Given the description of an element on the screen output the (x, y) to click on. 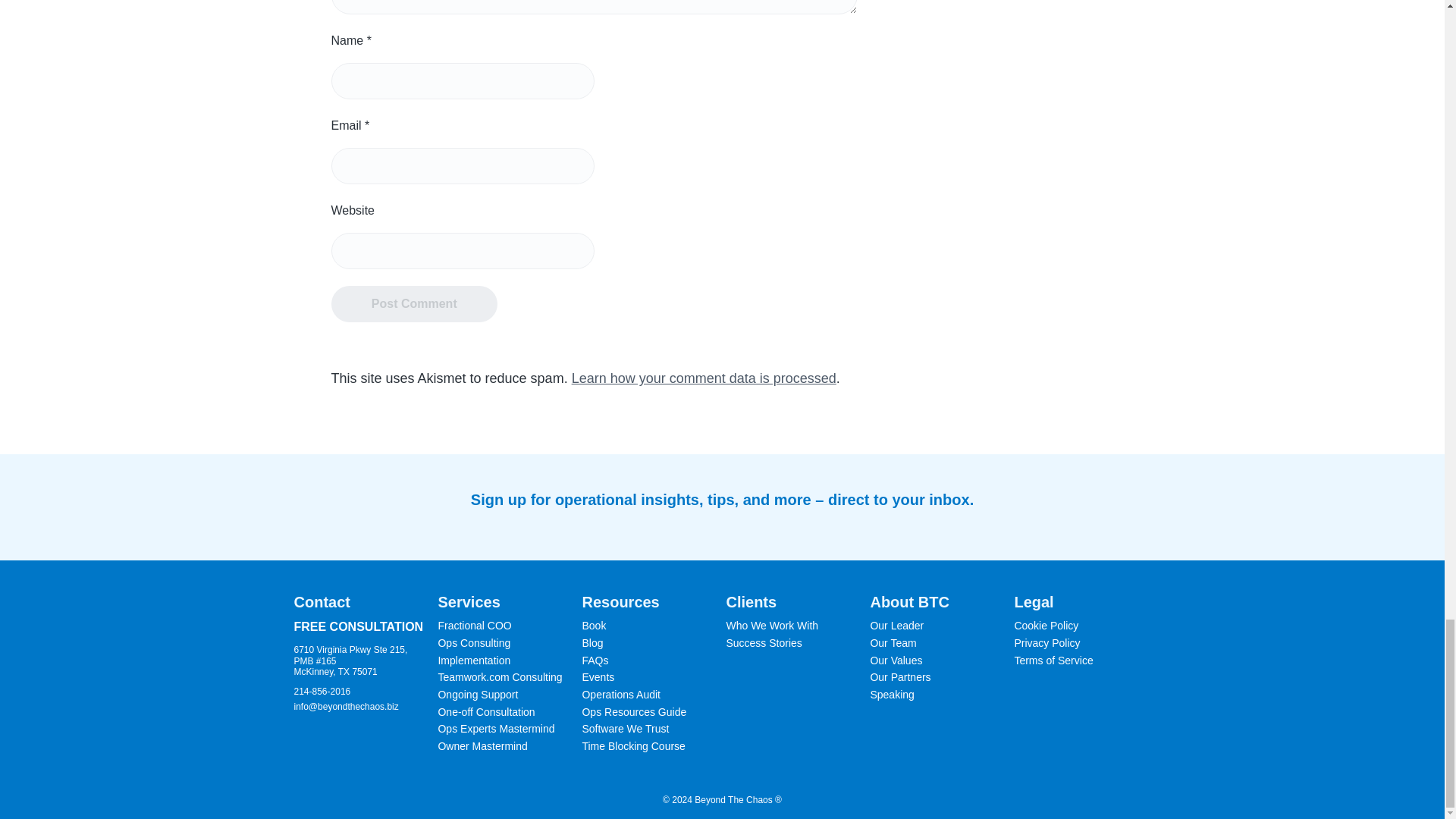
Post Comment (413, 303)
Post Comment (413, 303)
Events (597, 677)
Software We Trust (624, 728)
Teamwork.com Consulting (500, 677)
Implementation (474, 660)
Learn how your comment data is processed (703, 378)
Ops Experts Mastermind (496, 728)
Who We Work With (771, 625)
Time Blocking Course (632, 746)
